Given the description of an element on the screen output the (x, y) to click on. 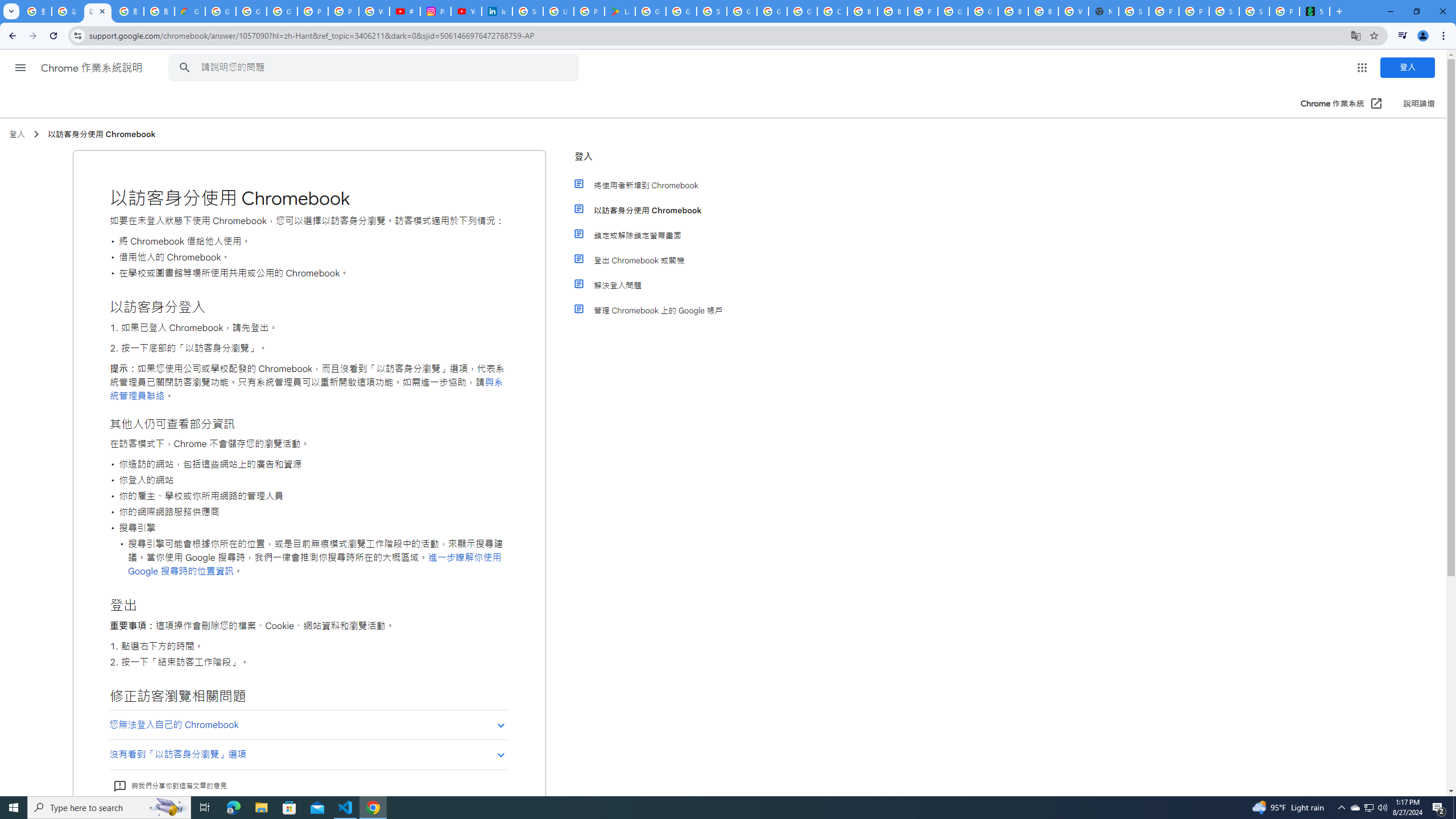
Sign in - Google Accounts (527, 11)
#nbabasketballhighlights - YouTube (404, 11)
